Given the description of an element on the screen output the (x, y) to click on. 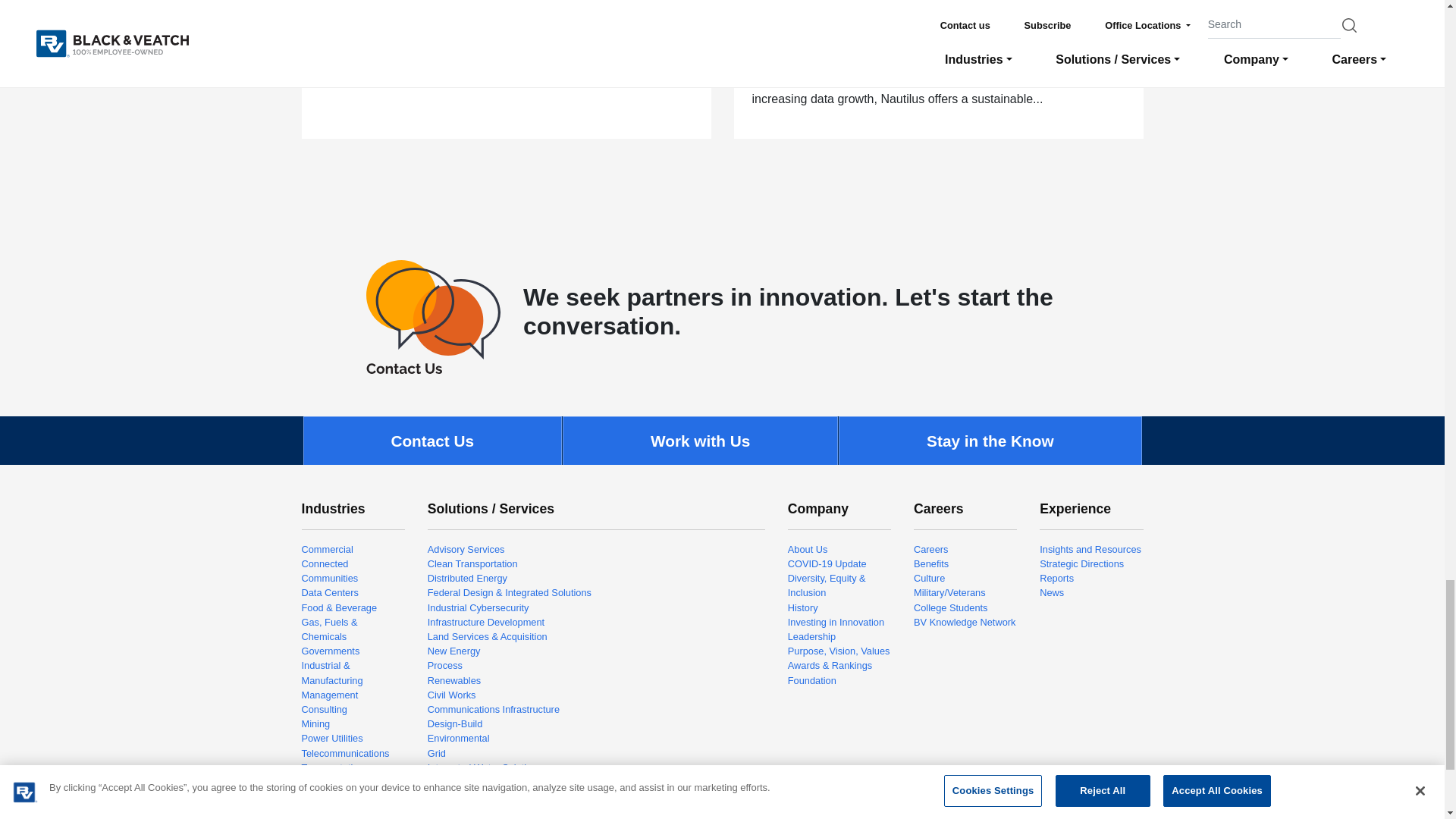
Contact Us (433, 316)
